Given the description of an element on the screen output the (x, y) to click on. 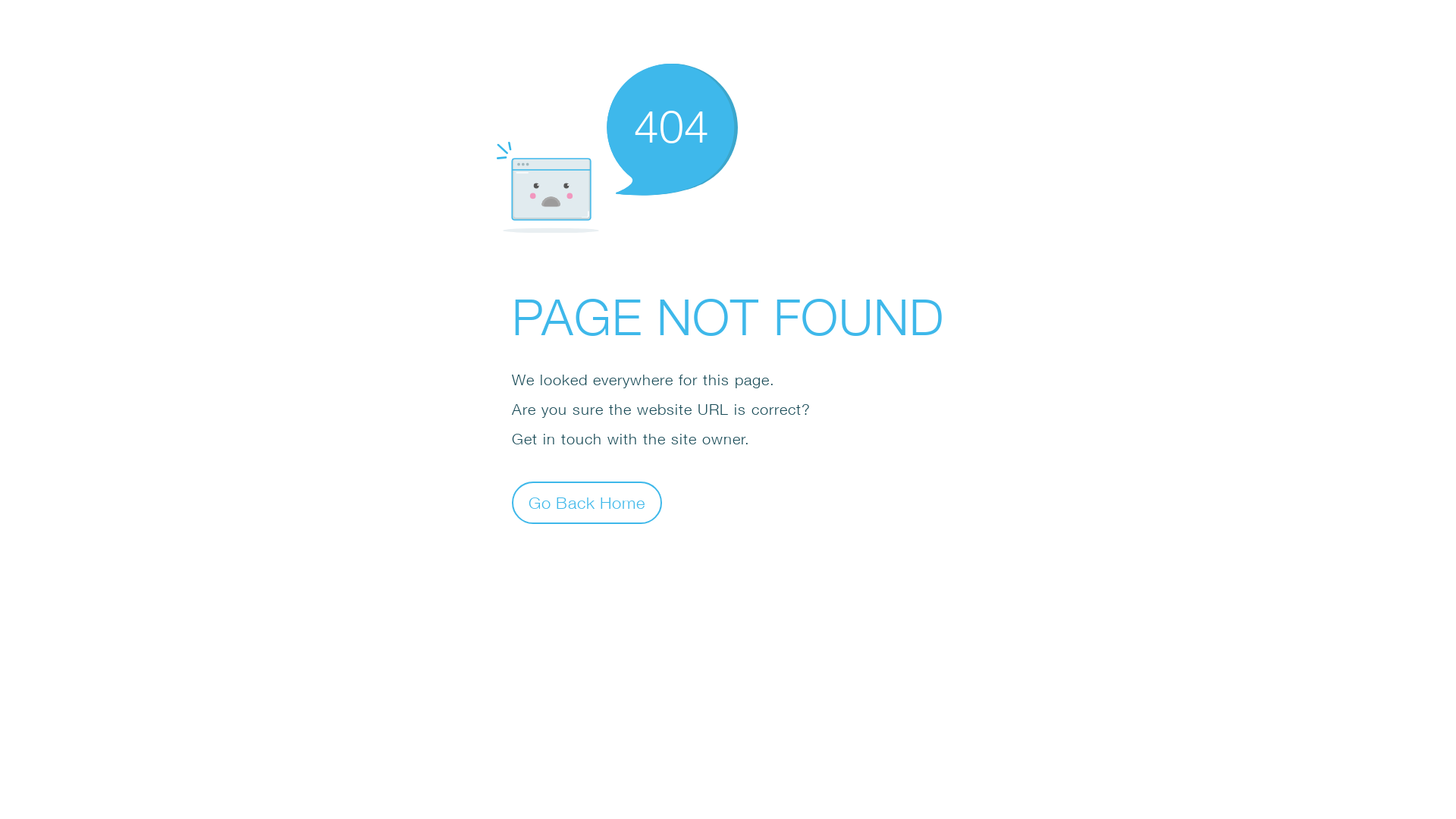
Go Back Home Element type: text (586, 502)
